Given the description of an element on the screen output the (x, y) to click on. 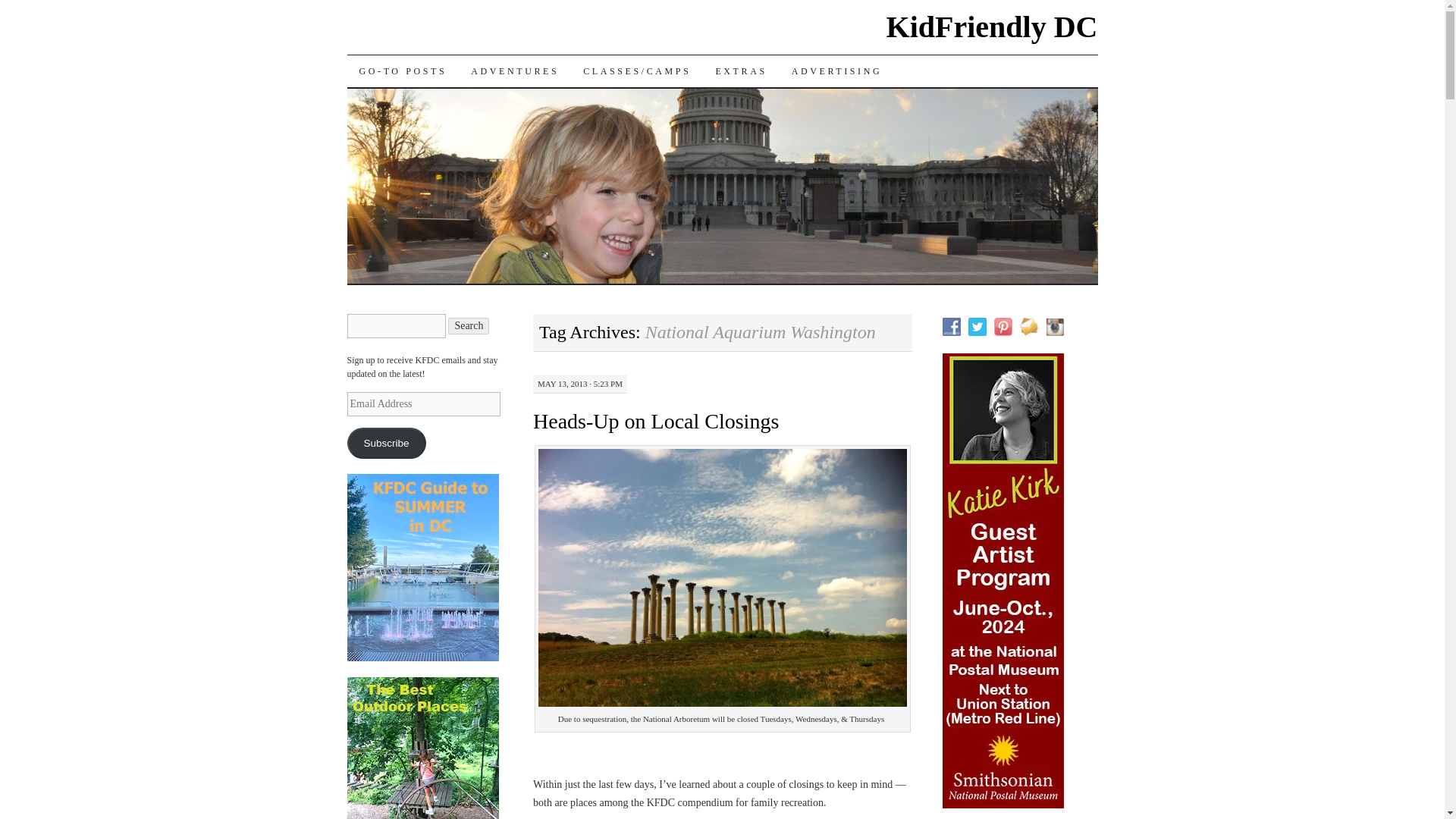
Search (468, 325)
KidFriendly DC (991, 26)
KidFriendly DC (991, 26)
ADVENTURES (514, 70)
GO-TO POSTS (403, 70)
EXTRAS (740, 70)
Seasonal Fun (514, 70)
